Given the description of an element on the screen output the (x, y) to click on. 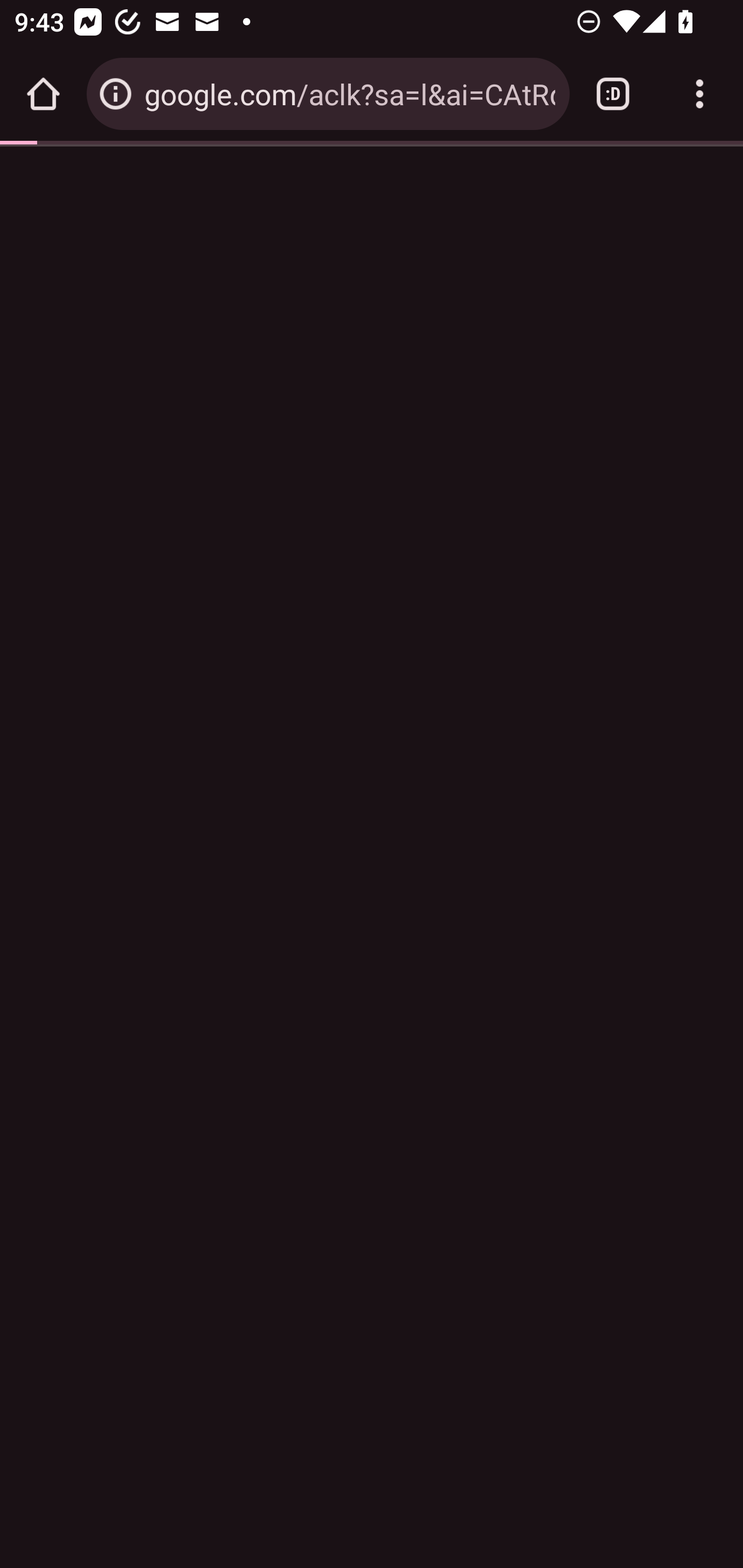
Open the home page (43, 93)
Your connection to this site is not secure (115, 93)
Switch or close tabs (612, 93)
Customize and control Google Chrome (699, 93)
